Given the description of an element on the screen output the (x, y) to click on. 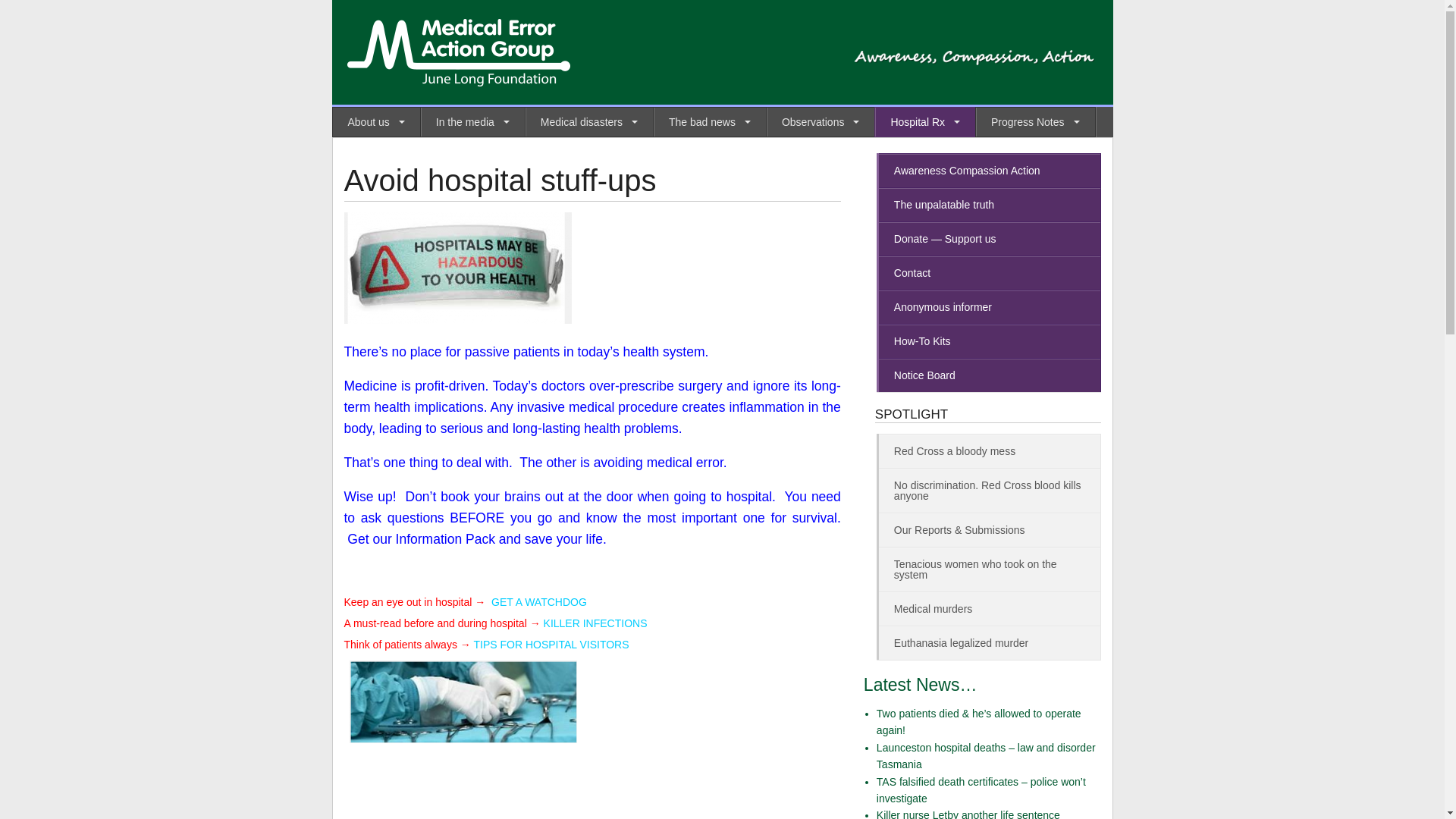
The bad news (709, 121)
Medical disasters (588, 121)
In the media (472, 121)
About us (375, 121)
Medical Error Action Group (600, 52)
